Given the description of an element on the screen output the (x, y) to click on. 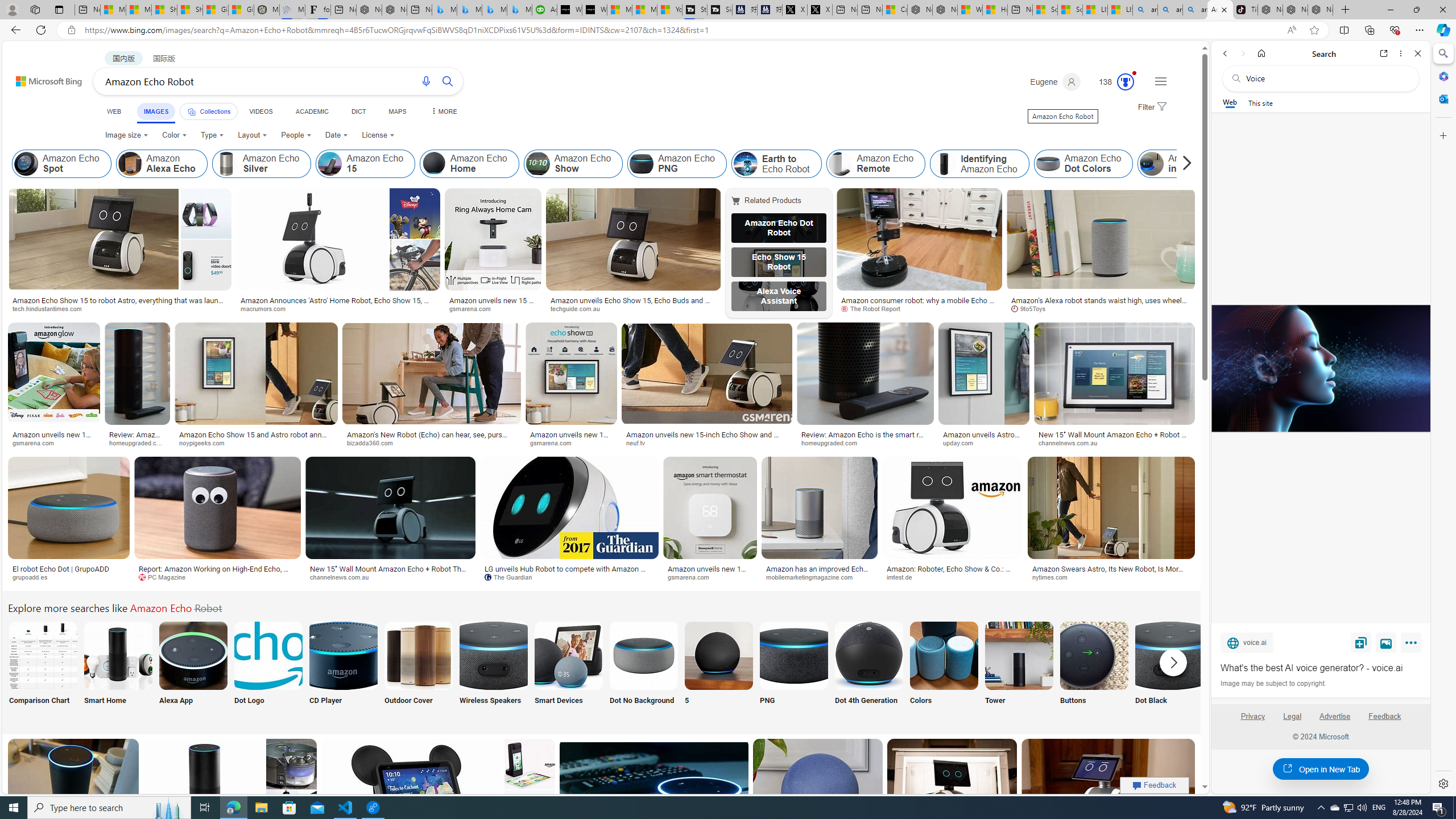
Alexa App. Amazon Echo Alexa App (192, 669)
9to5Toys (1101, 308)
Amazon Echo Silver (261, 163)
PNG (794, 669)
Earth to Echo Robot (775, 163)
Echo Show 15 Robot (778, 261)
Amazon Echo Dot Robot (778, 227)
Side bar (1443, 418)
channelnews.com.au (390, 576)
Amazon Echo Smart Home Smart Home (118, 669)
